Given the description of an element on the screen output the (x, y) to click on. 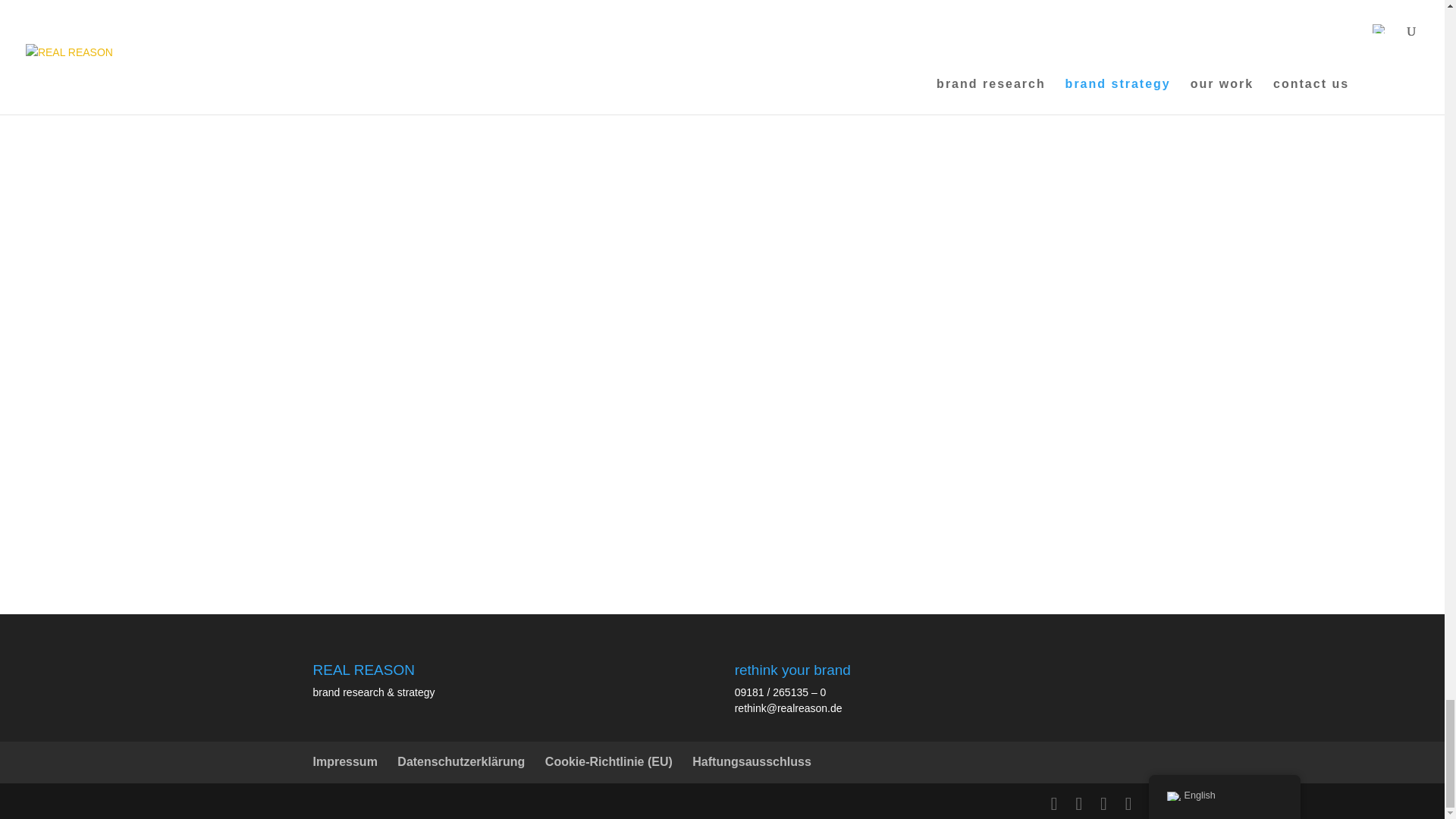
Haftungsausschluss (751, 761)
Impressum (345, 761)
